Given the description of an element on the screen output the (x, y) to click on. 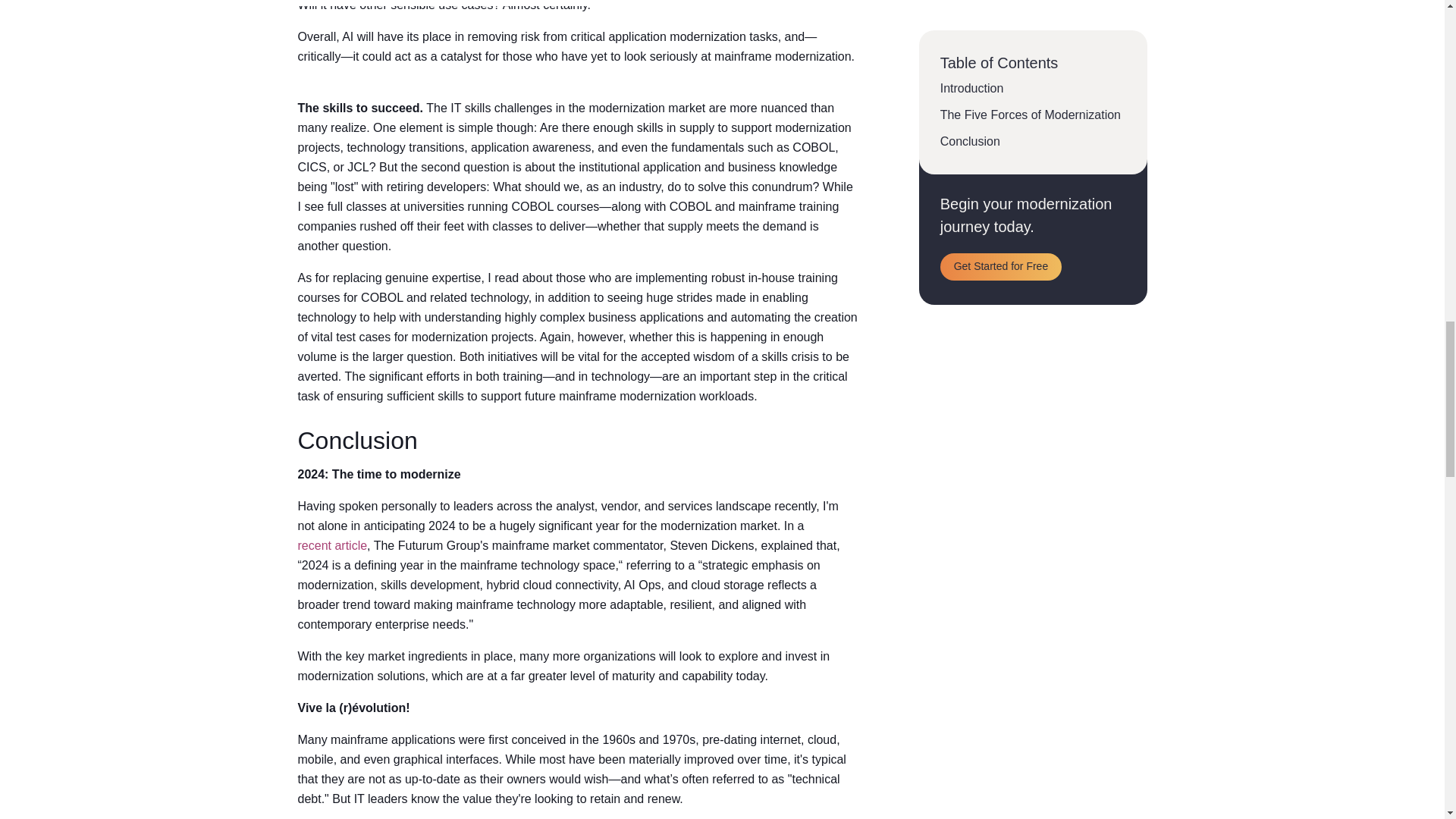
recent article (331, 546)
